Given the description of an element on the screen output the (x, y) to click on. 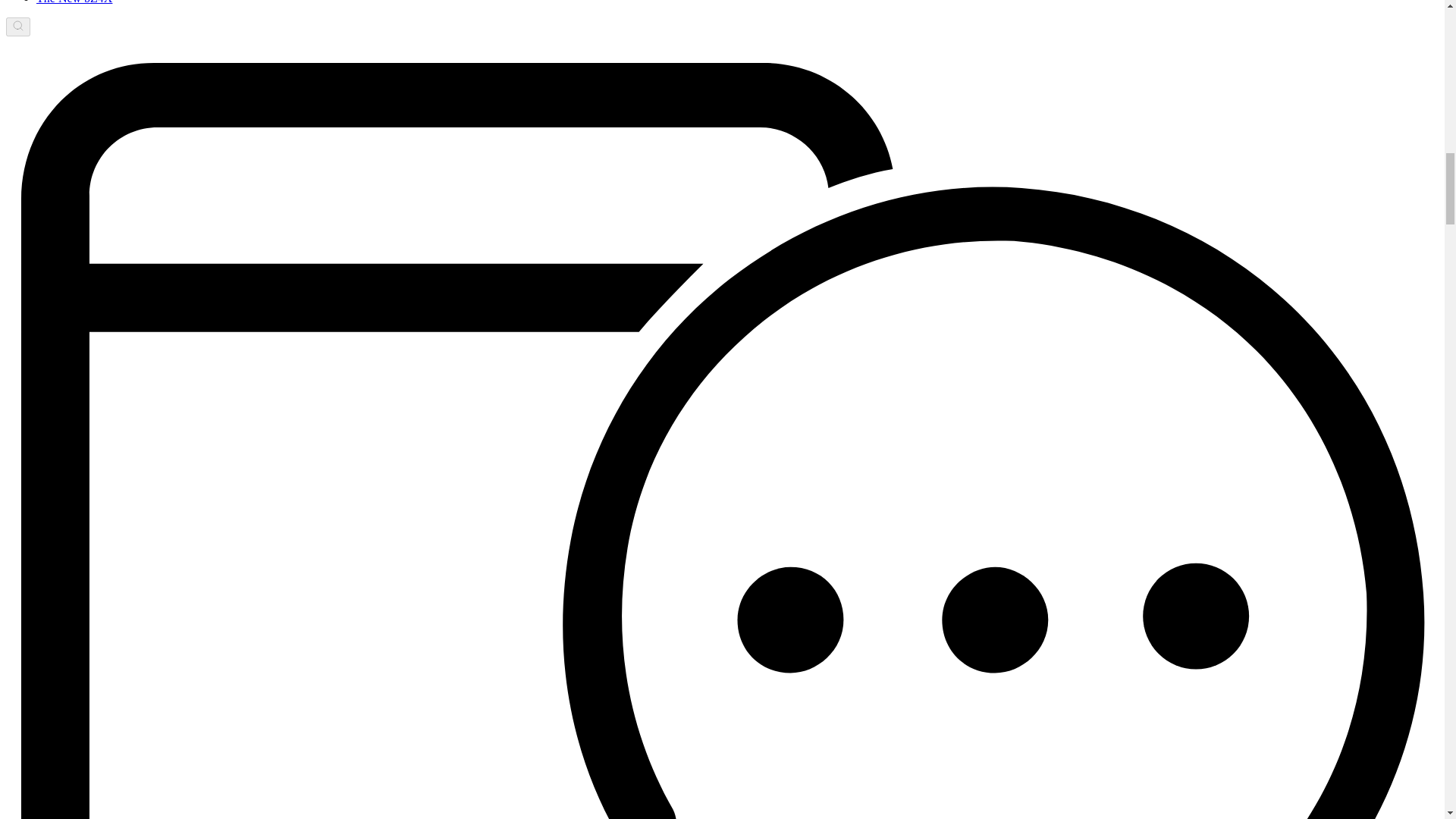
The New bZ4X (74, 2)
